Given the description of an element on the screen output the (x, y) to click on. 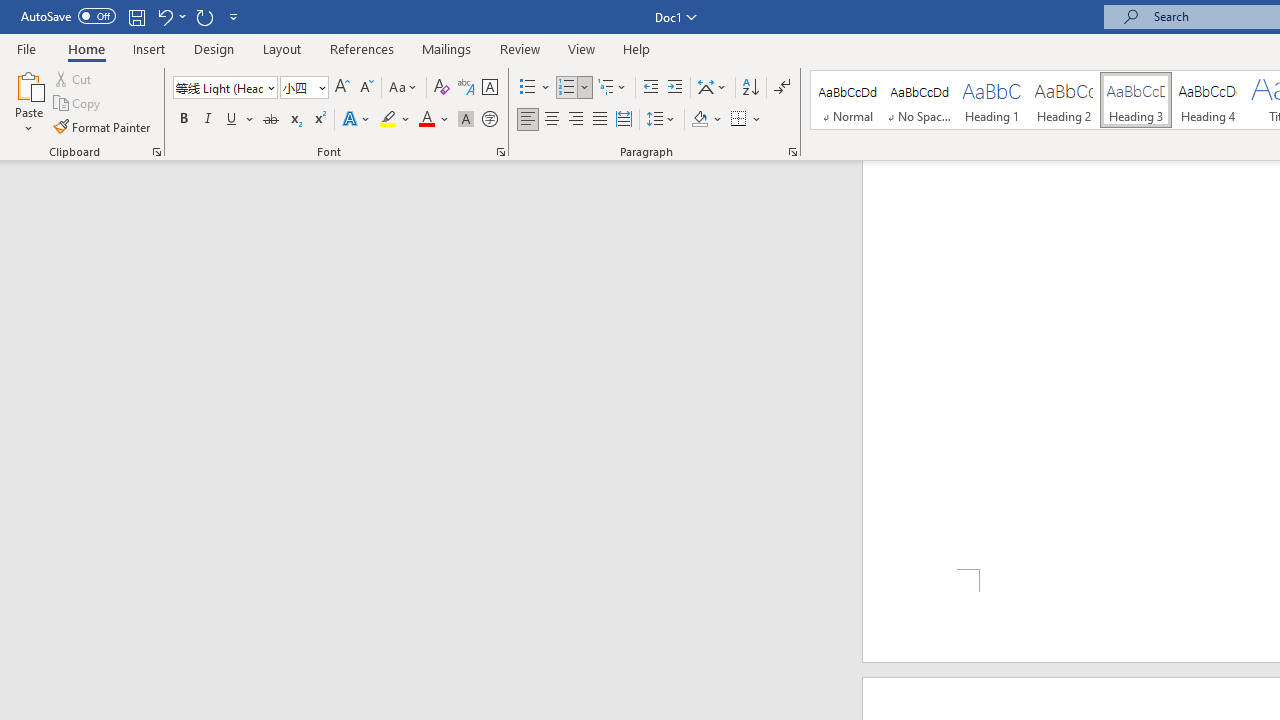
Heading 1 (991, 100)
Heading 3 (1135, 100)
